Given the description of an element on the screen output the (x, y) to click on. 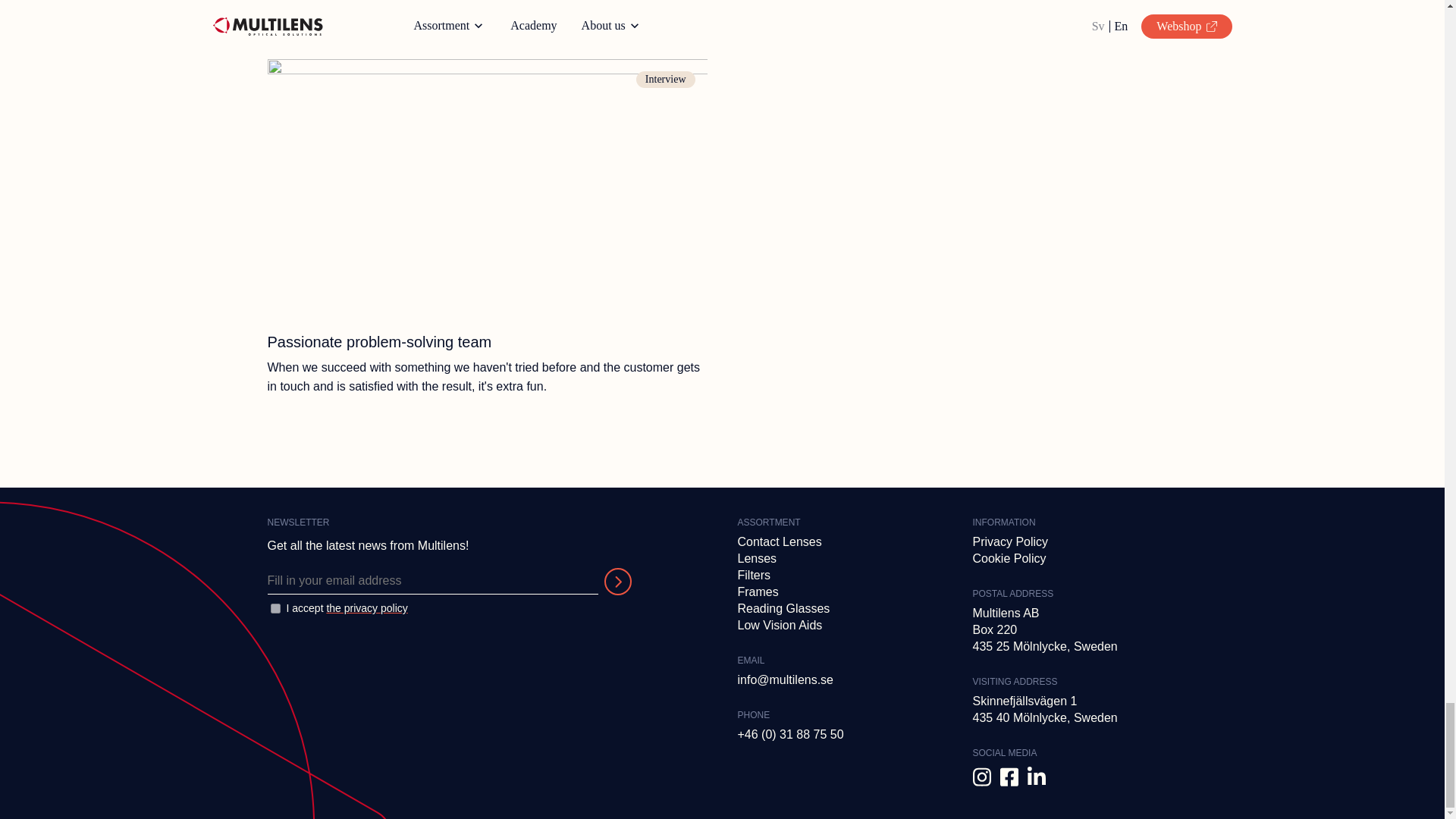
yes (274, 608)
the privacy policy (366, 607)
